Given the description of an element on the screen output the (x, y) to click on. 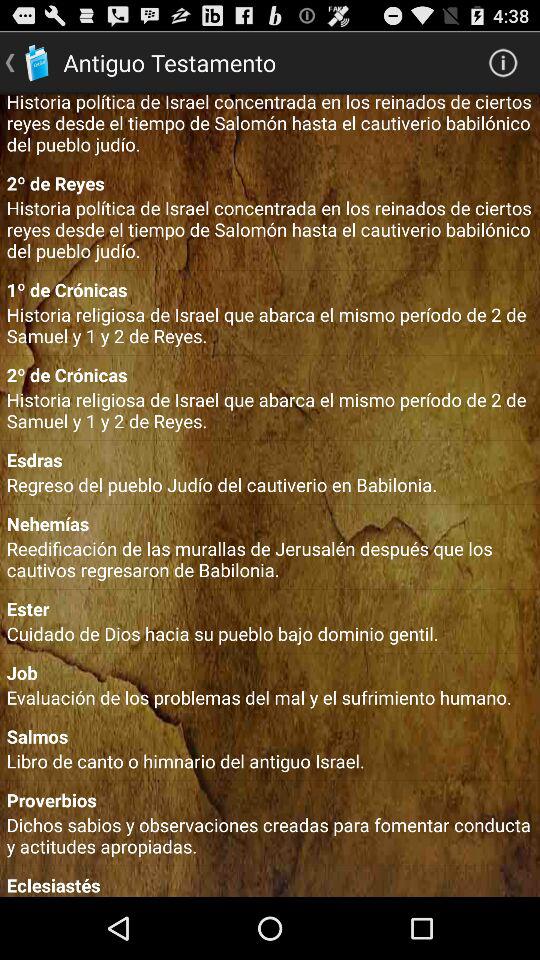
turn on item above libro de canto icon (269, 736)
